Given the description of an element on the screen output the (x, y) to click on. 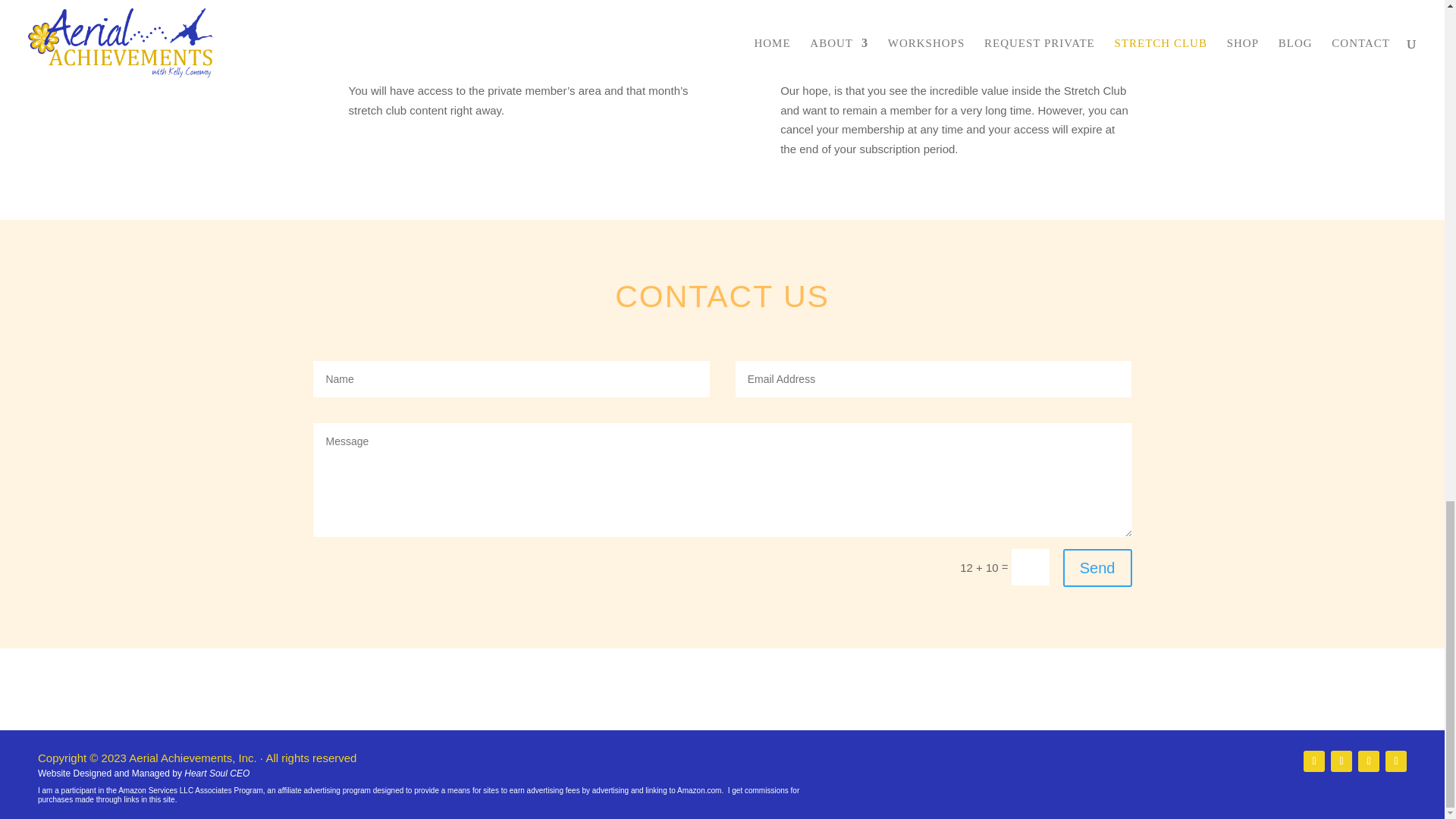
Follow on Instagram (1341, 761)
Follow on Pinterest (1368, 761)
Heart Soul CEO (216, 773)
Follow on Facebook (1313, 761)
Follow on Youtube (1396, 761)
Send (1097, 567)
